Given the description of an element on the screen output the (x, y) to click on. 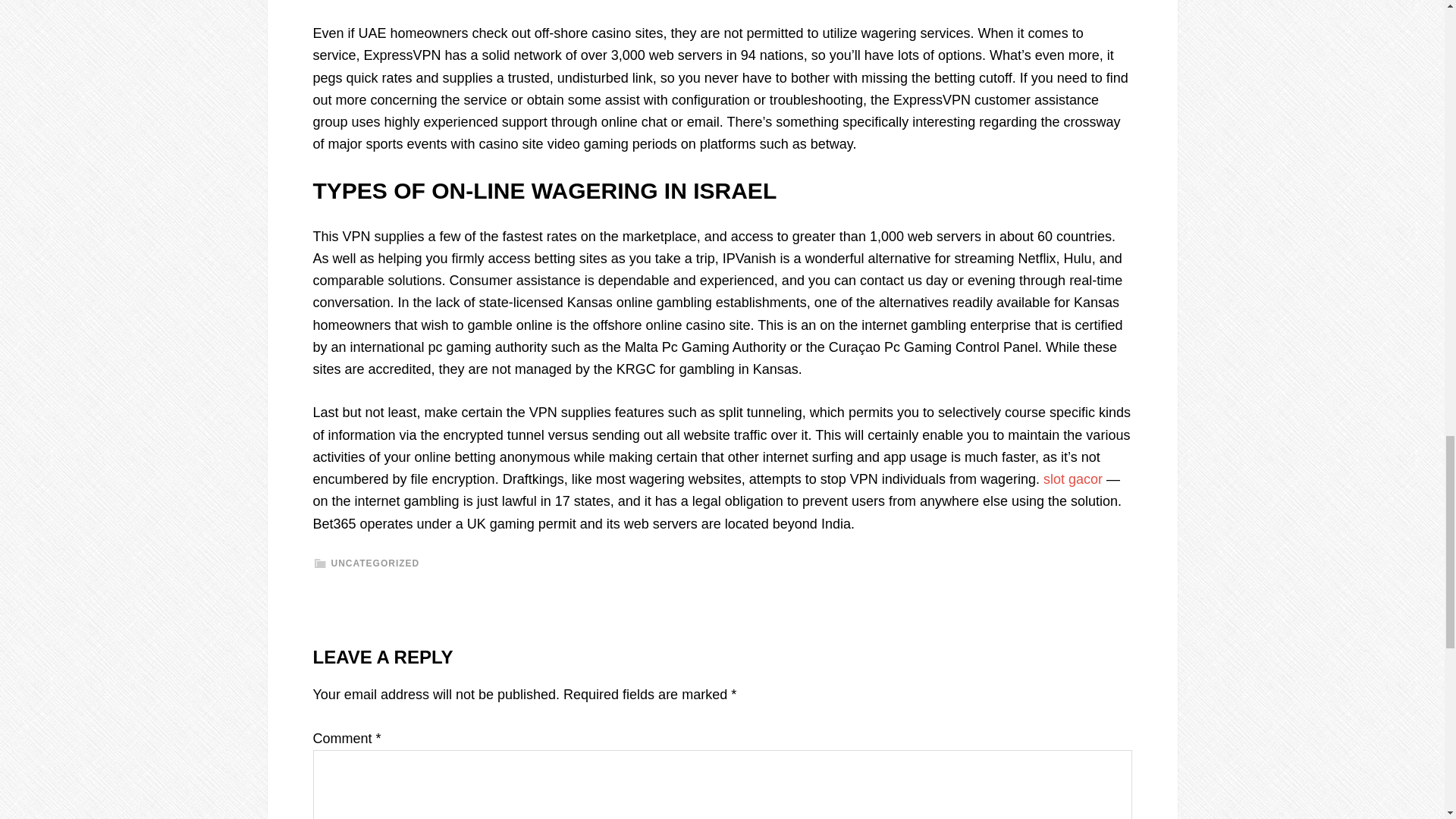
slot gacor (1072, 478)
UNCATEGORIZED (374, 562)
